Given the description of an element on the screen output the (x, y) to click on. 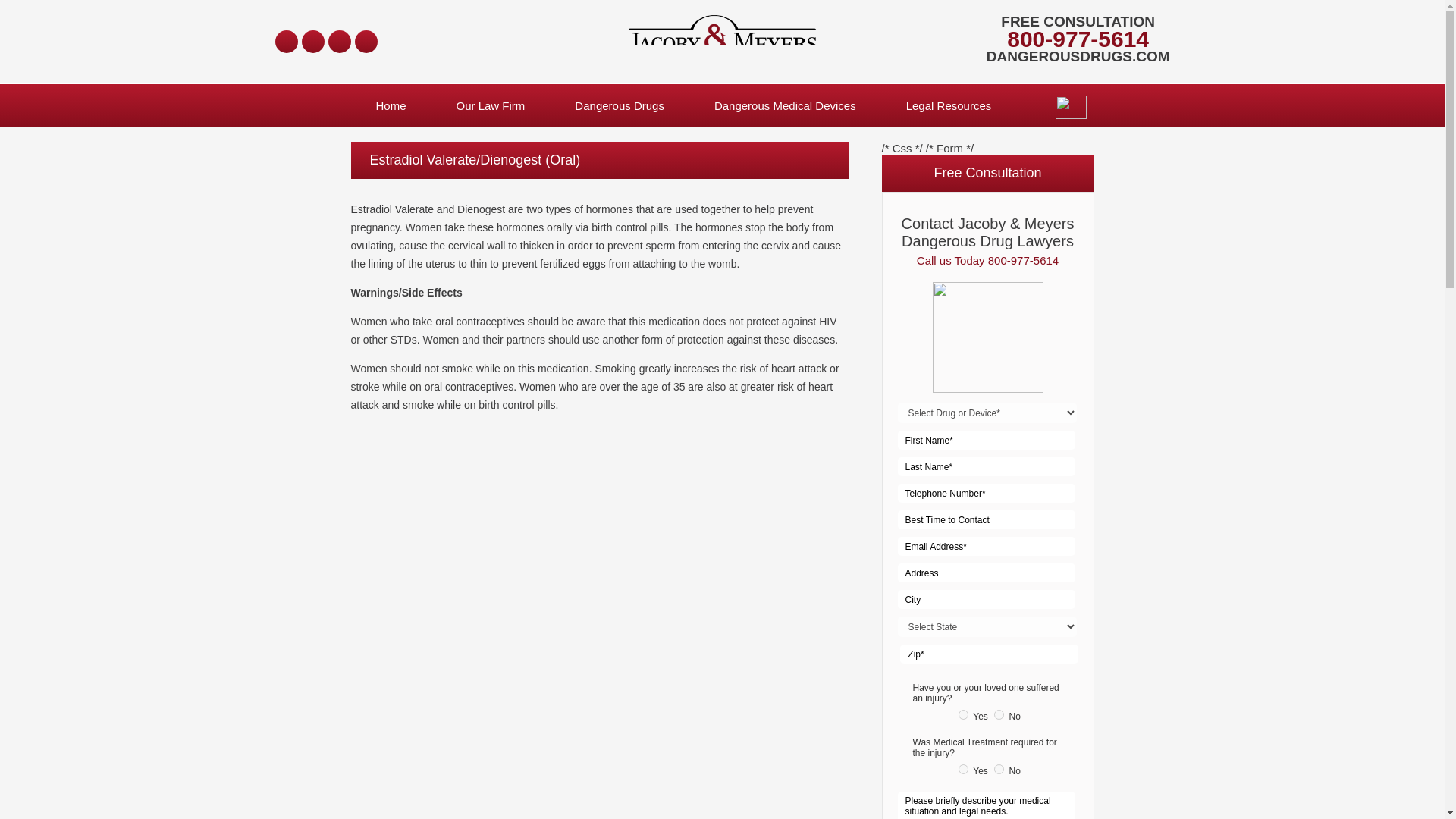
No (999, 768)
Yes (963, 714)
Dangerous Medical Devices (784, 105)
Legal Resources (948, 105)
Our Law Firm (490, 105)
Yes (963, 768)
No (999, 714)
Home (390, 105)
Dangerous Drugs (619, 105)
